Given the description of an element on the screen output the (x, y) to click on. 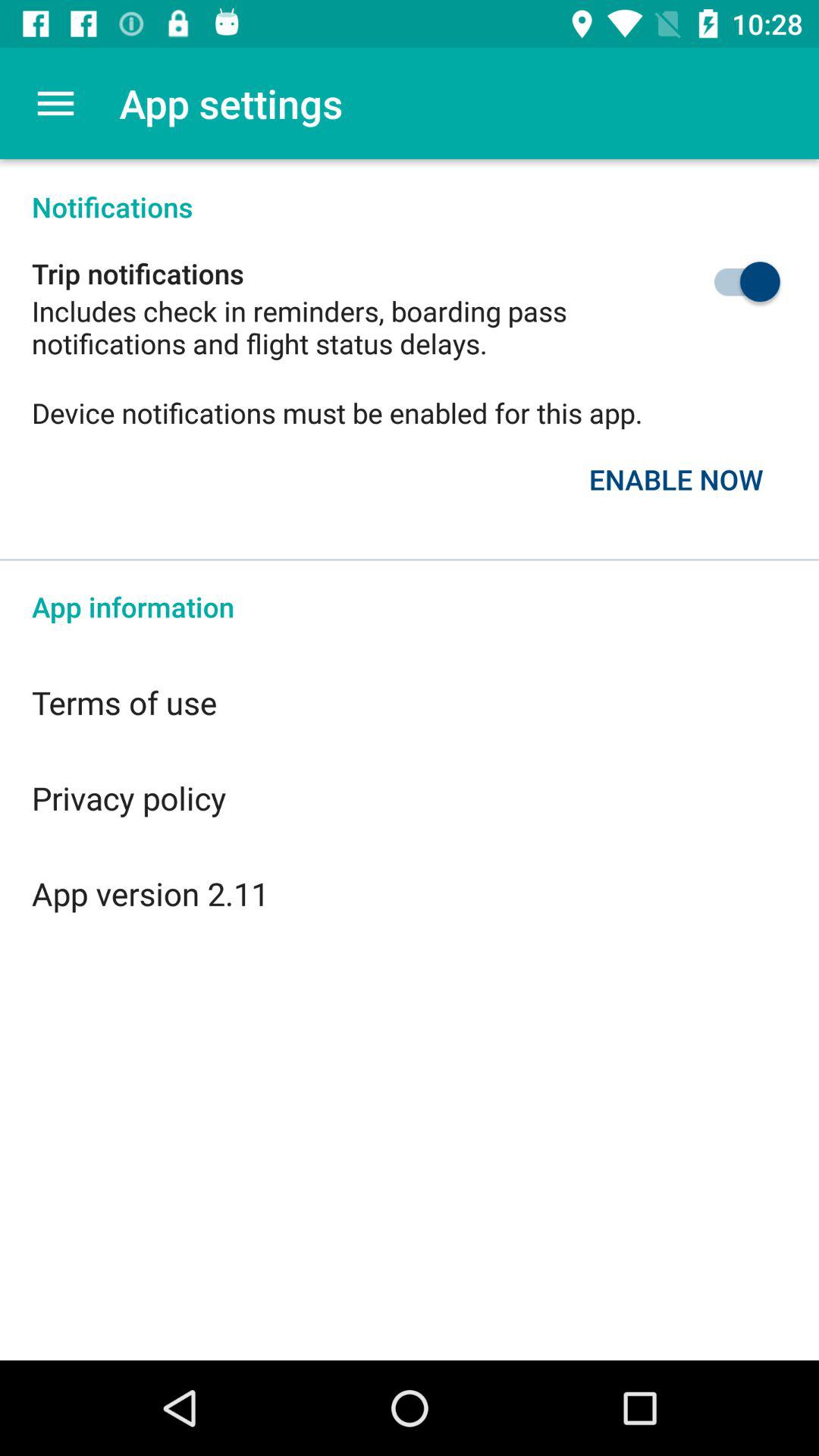
select the item below the app information icon (409, 702)
